Given the description of an element on the screen output the (x, y) to click on. 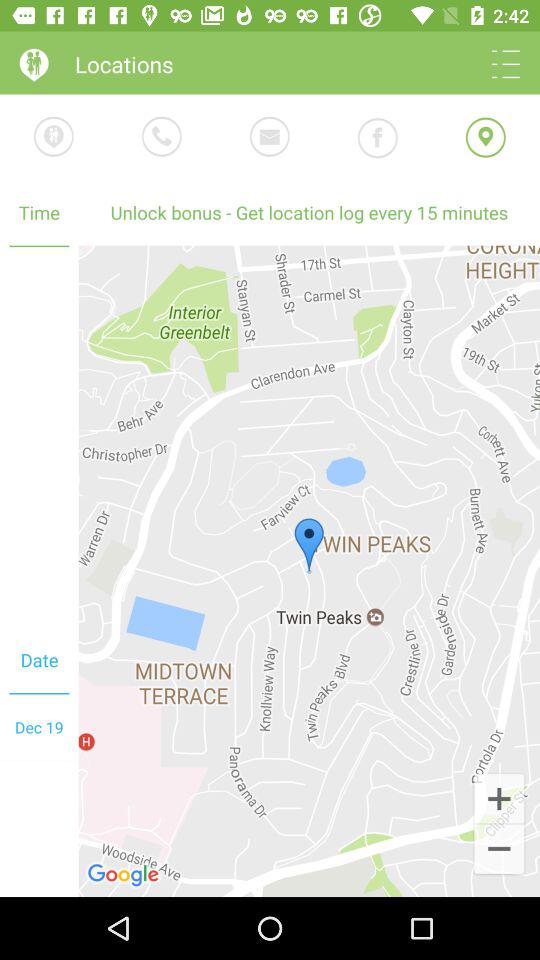
tap the icon to the right of the time (309, 212)
